Given the description of an element on the screen output the (x, y) to click on. 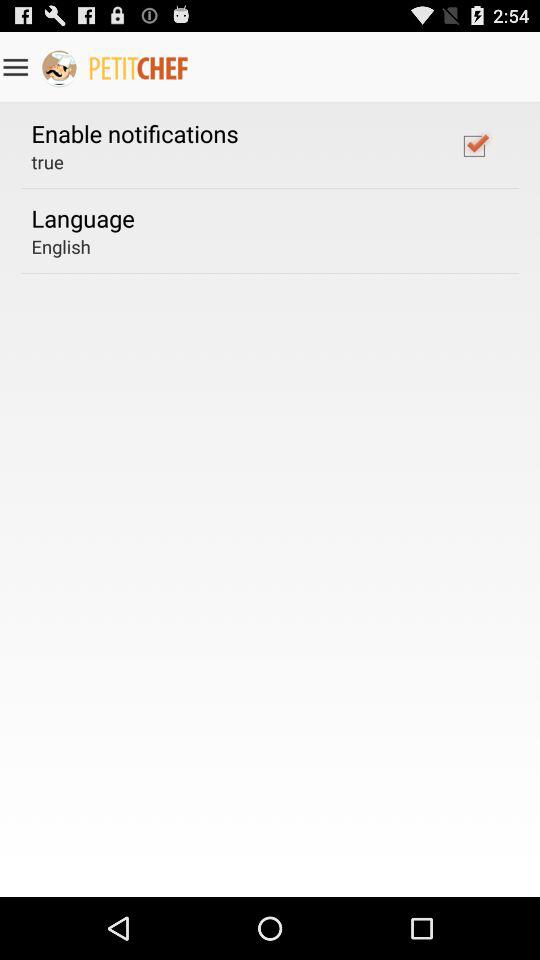
select the item next to the enable notifications icon (474, 145)
